Given the description of an element on the screen output the (x, y) to click on. 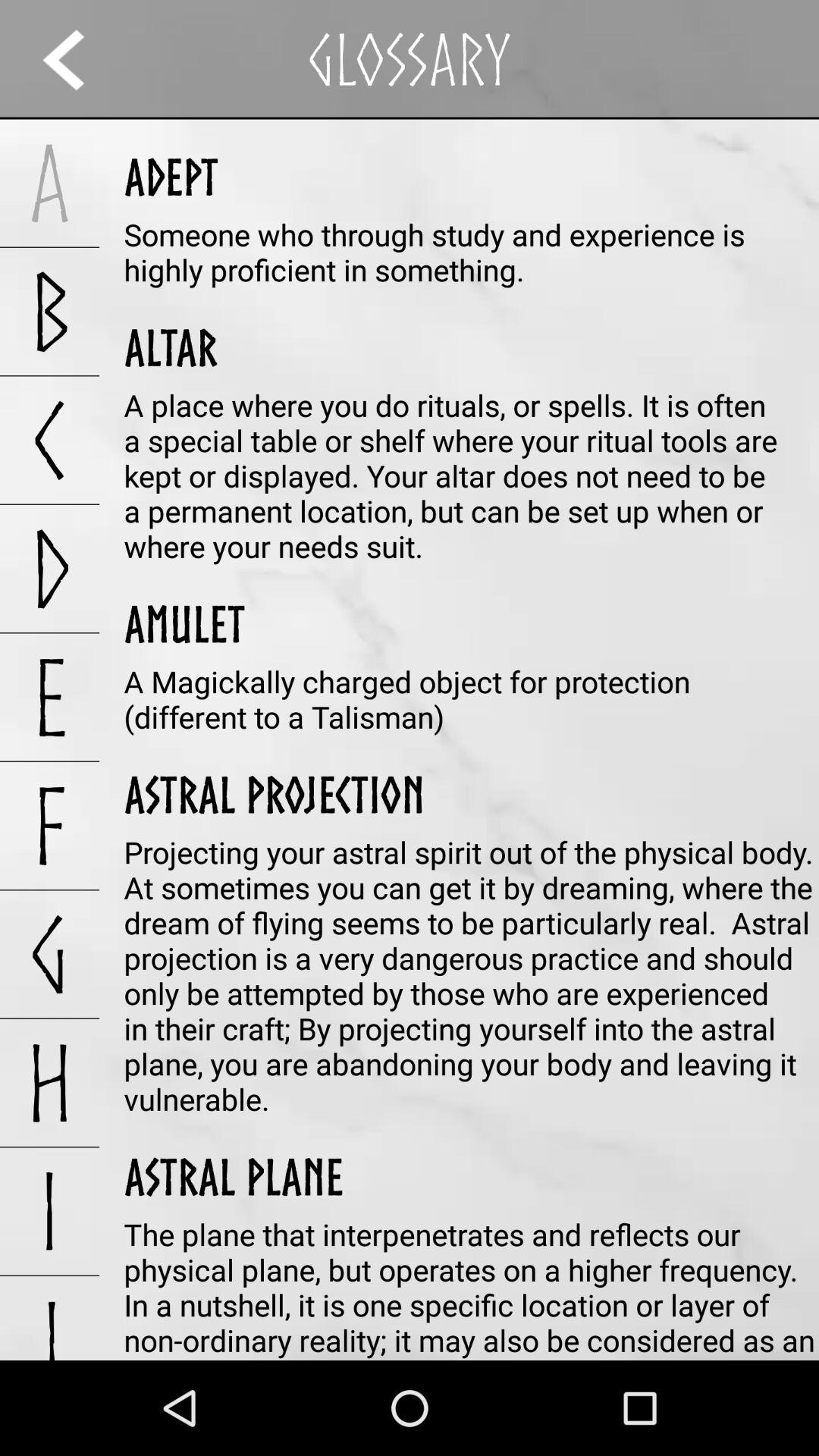
launch icon below e app (49, 825)
